Given the description of an element on the screen output the (x, y) to click on. 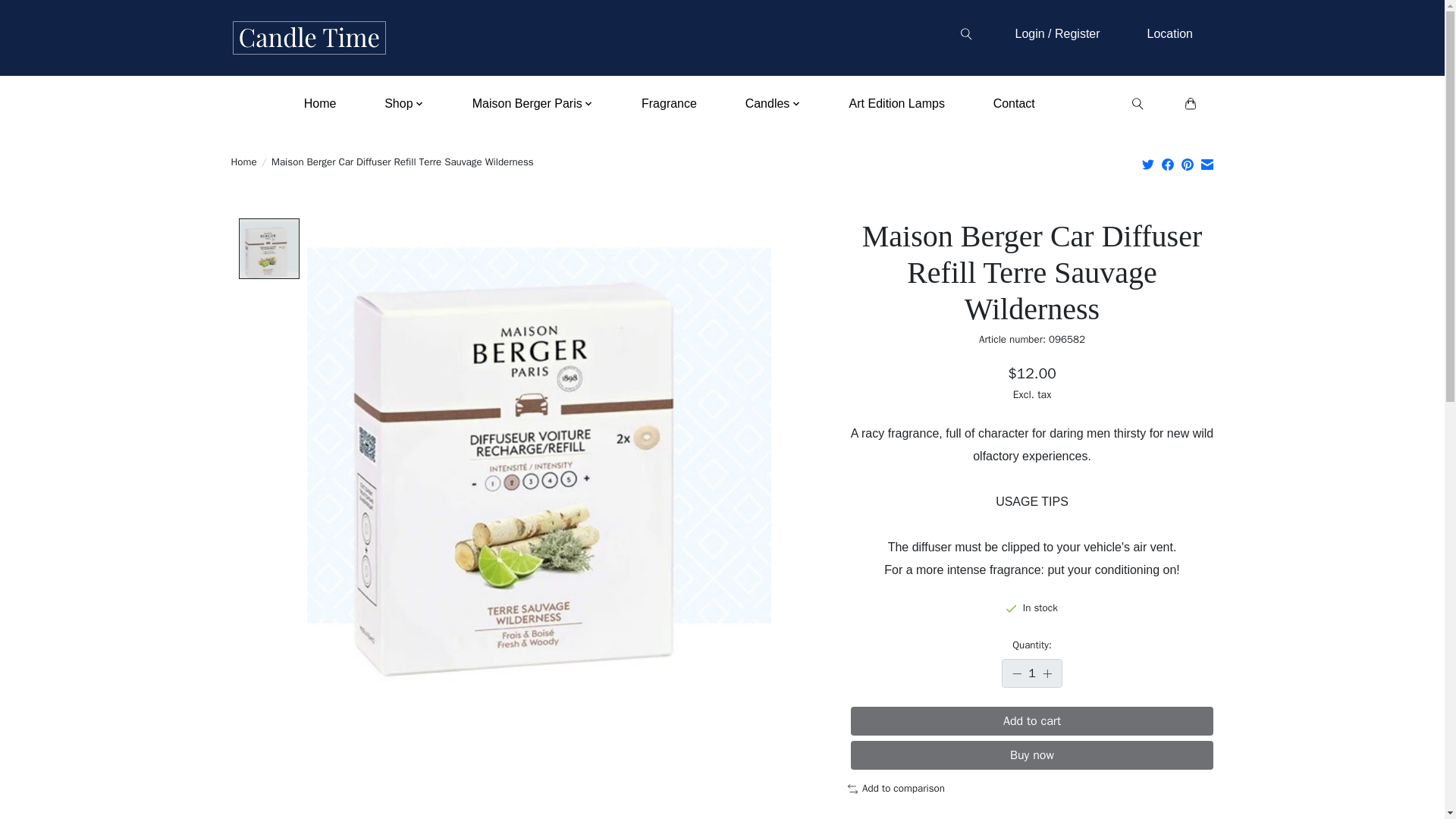
Candles (772, 103)
Share on Twitter (1147, 164)
Contact (1014, 103)
Location (1169, 33)
Art Edition Lamps (896, 103)
Home (320, 103)
My account (1169, 33)
Maison Berger Paris (531, 103)
Shop (403, 103)
Share on Facebook (1167, 164)
Share by Email (1206, 164)
Fragrance (667, 103)
My account (1057, 33)
CANDLE TIME (308, 38)
1 (1031, 673)
